Given the description of an element on the screen output the (x, y) to click on. 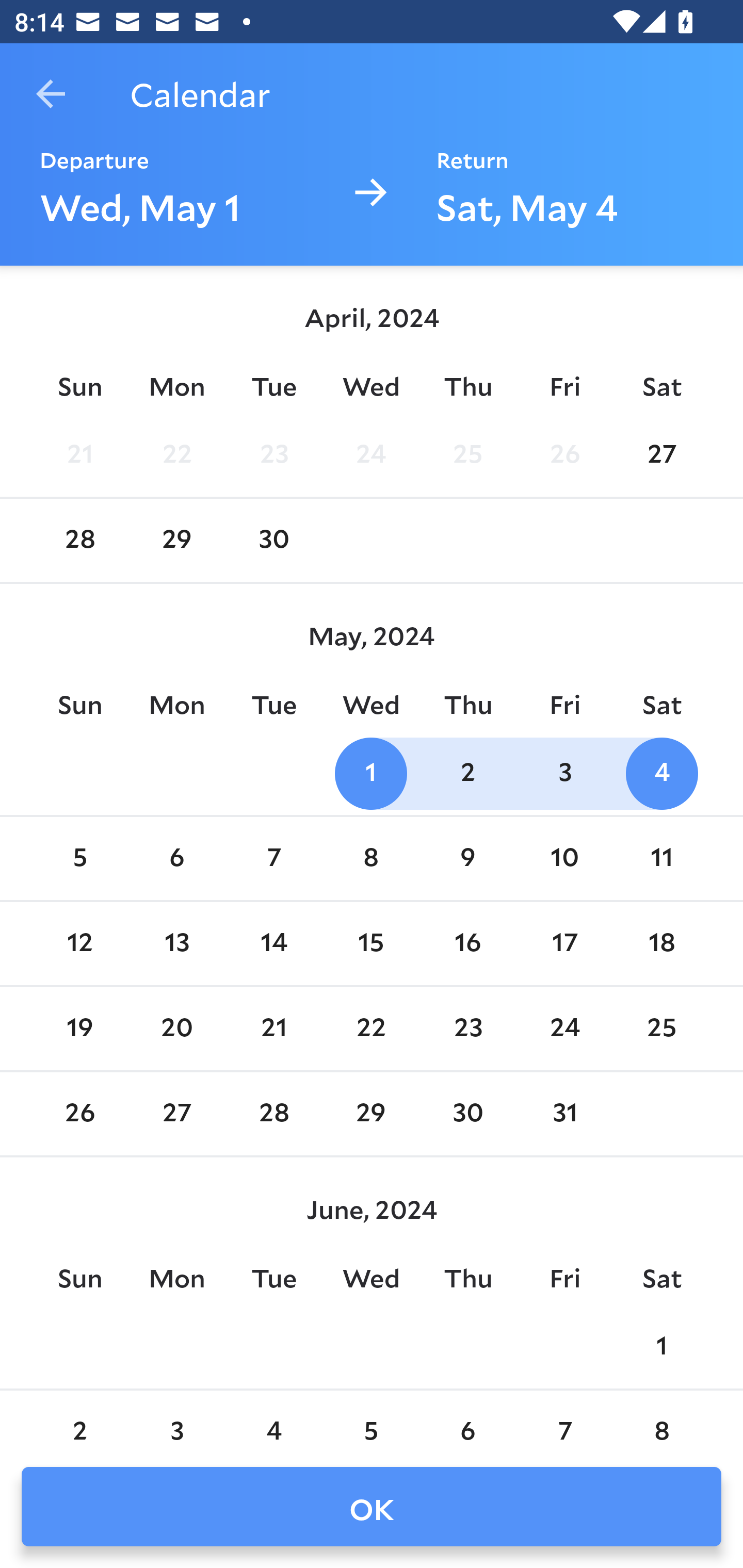
Navigate up (50, 93)
21 (79, 454)
22 (177, 454)
23 (273, 454)
24 (371, 454)
25 (467, 454)
26 (565, 454)
27 (661, 454)
28 (79, 540)
29 (177, 540)
30 (273, 540)
1 (371, 772)
2 (467, 772)
3 (565, 772)
4 (661, 772)
5 (79, 859)
6 (177, 859)
7 (273, 859)
8 (371, 859)
9 (467, 859)
10 (565, 859)
11 (661, 859)
12 (79, 943)
13 (177, 943)
14 (273, 943)
15 (371, 943)
16 (467, 943)
17 (565, 943)
18 (661, 943)
19 (79, 1028)
20 (177, 1028)
21 (273, 1028)
22 (371, 1028)
23 (467, 1028)
24 (565, 1028)
25 (661, 1028)
26 (79, 1114)
27 (177, 1114)
28 (273, 1114)
29 (371, 1114)
30 (467, 1114)
31 (565, 1114)
1 (661, 1346)
2 (79, 1420)
3 (177, 1420)
4 (273, 1420)
5 (371, 1420)
6 (467, 1420)
7 (565, 1420)
8 (661, 1420)
